Given the description of an element on the screen output the (x, y) to click on. 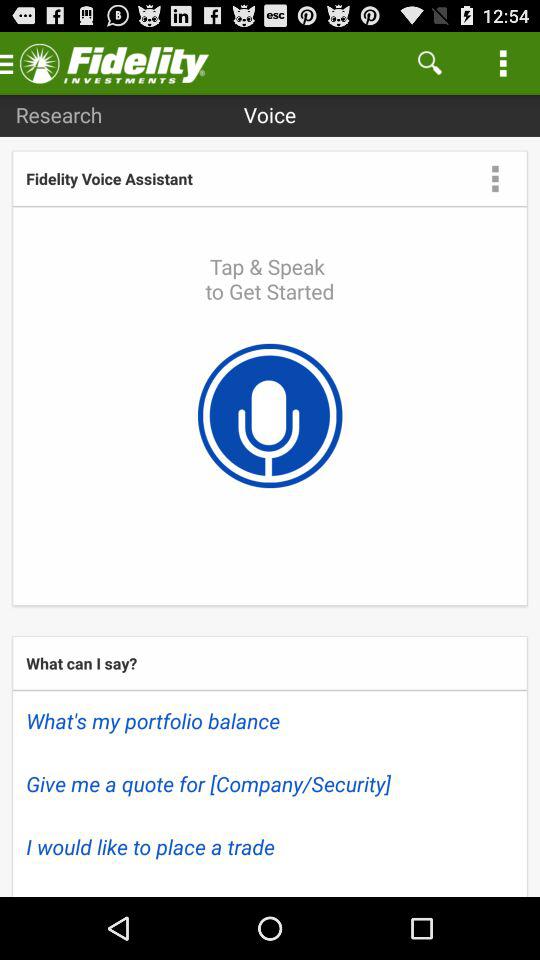
tap the research app (58, 114)
